Given the description of an element on the screen output the (x, y) to click on. 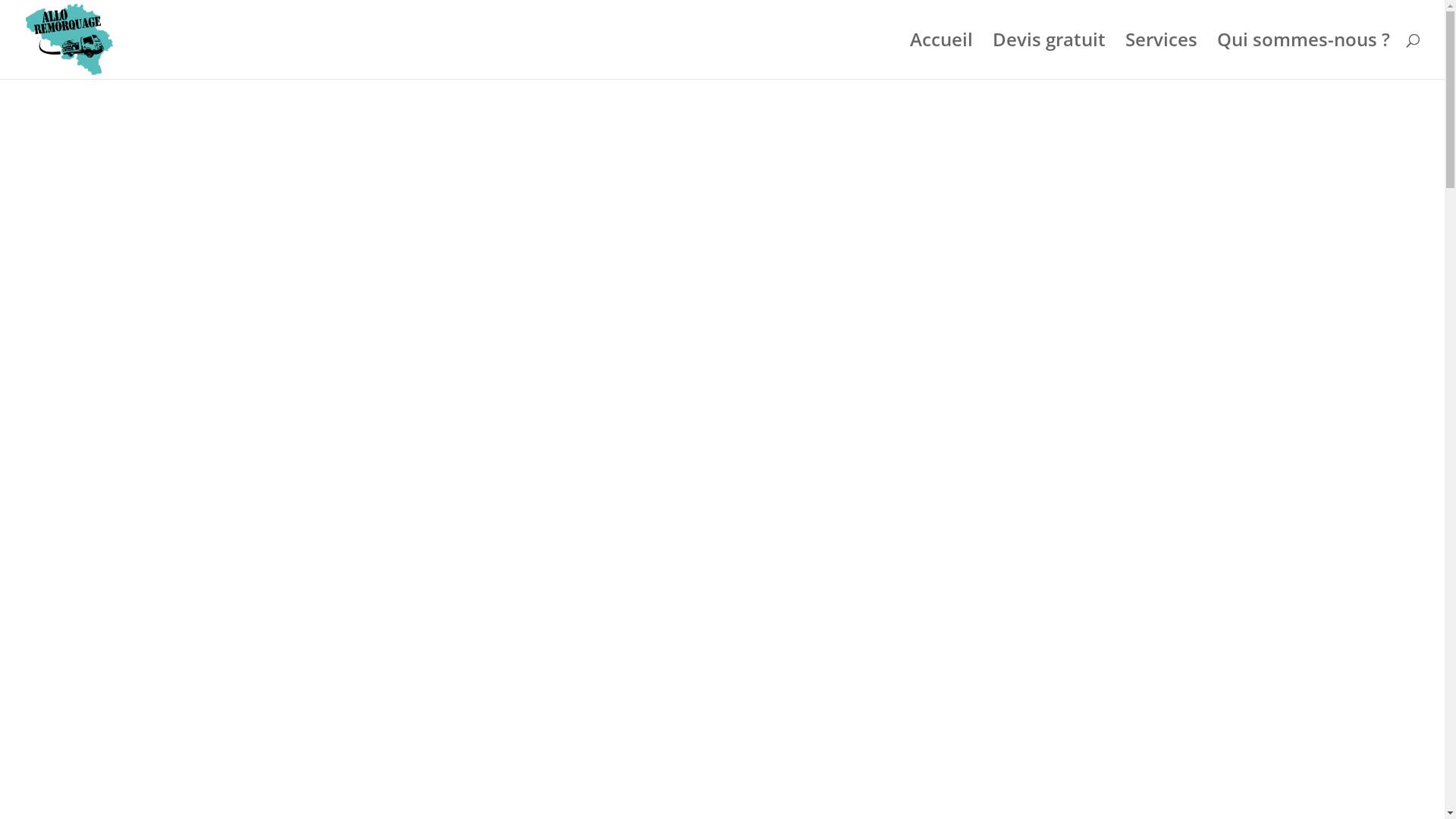
Accueil Element type: text (941, 56)
Services Element type: text (1161, 56)
Qui sommes-nous ? Element type: text (1303, 56)
Devis gratuit Element type: text (1048, 56)
